Given the description of an element on the screen output the (x, y) to click on. 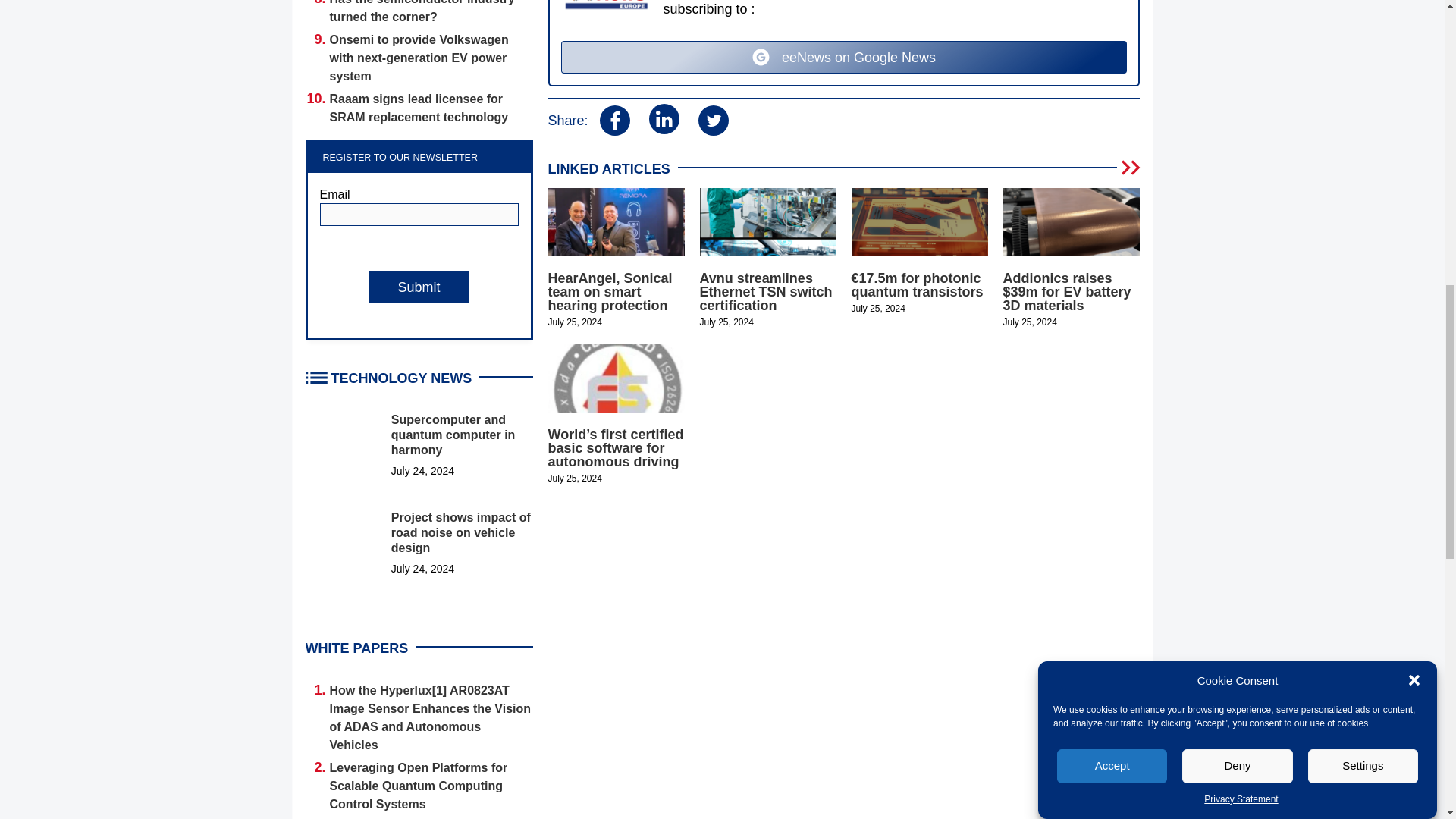
Submit (418, 287)
Accept (1112, 265)
Privacy Statement (1241, 153)
Deny (1237, 250)
Settings (1362, 220)
